Given the description of an element on the screen output the (x, y) to click on. 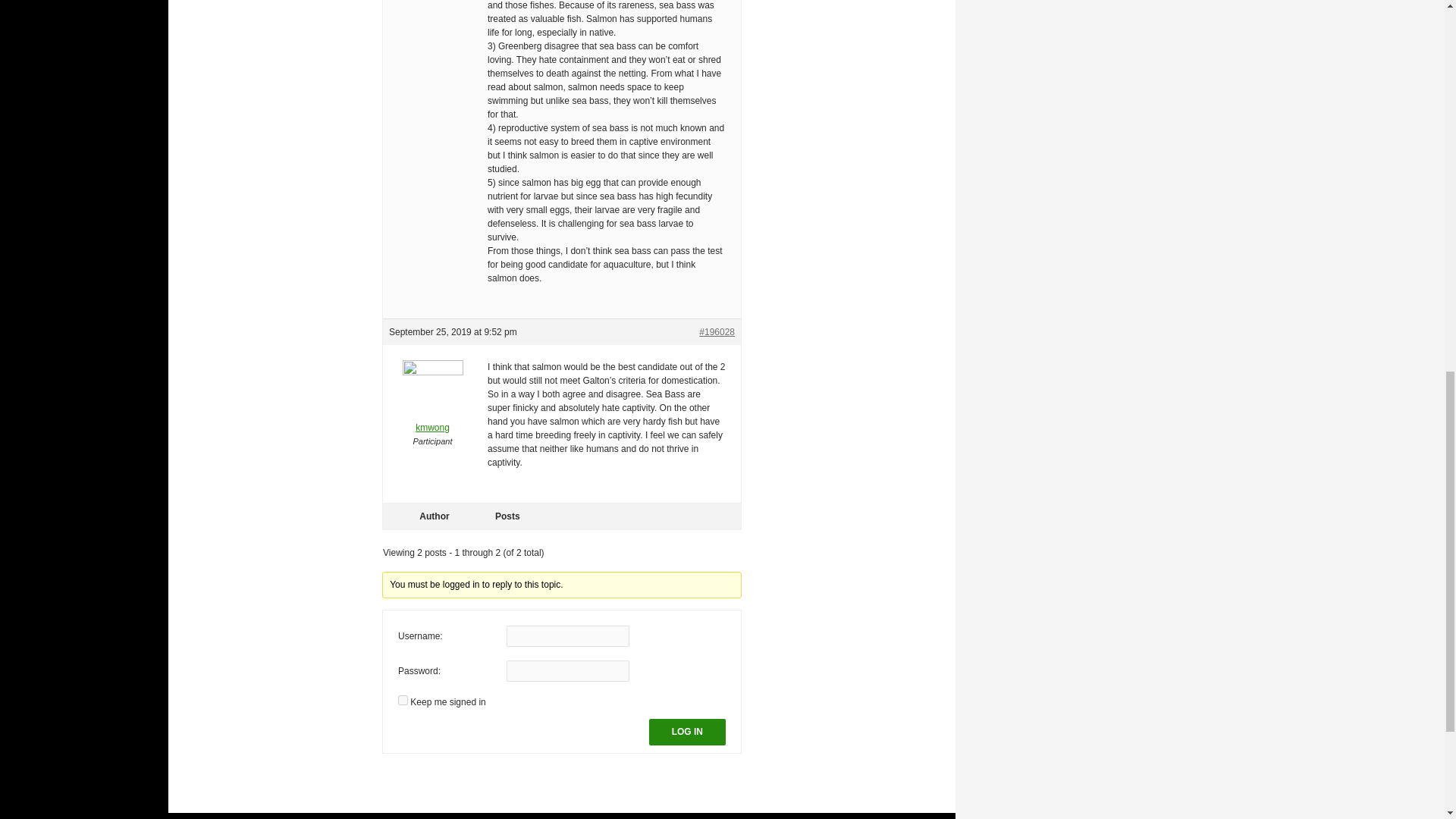
forever (402, 700)
View kmwong's profile (432, 407)
